Given the description of an element on the screen output the (x, y) to click on. 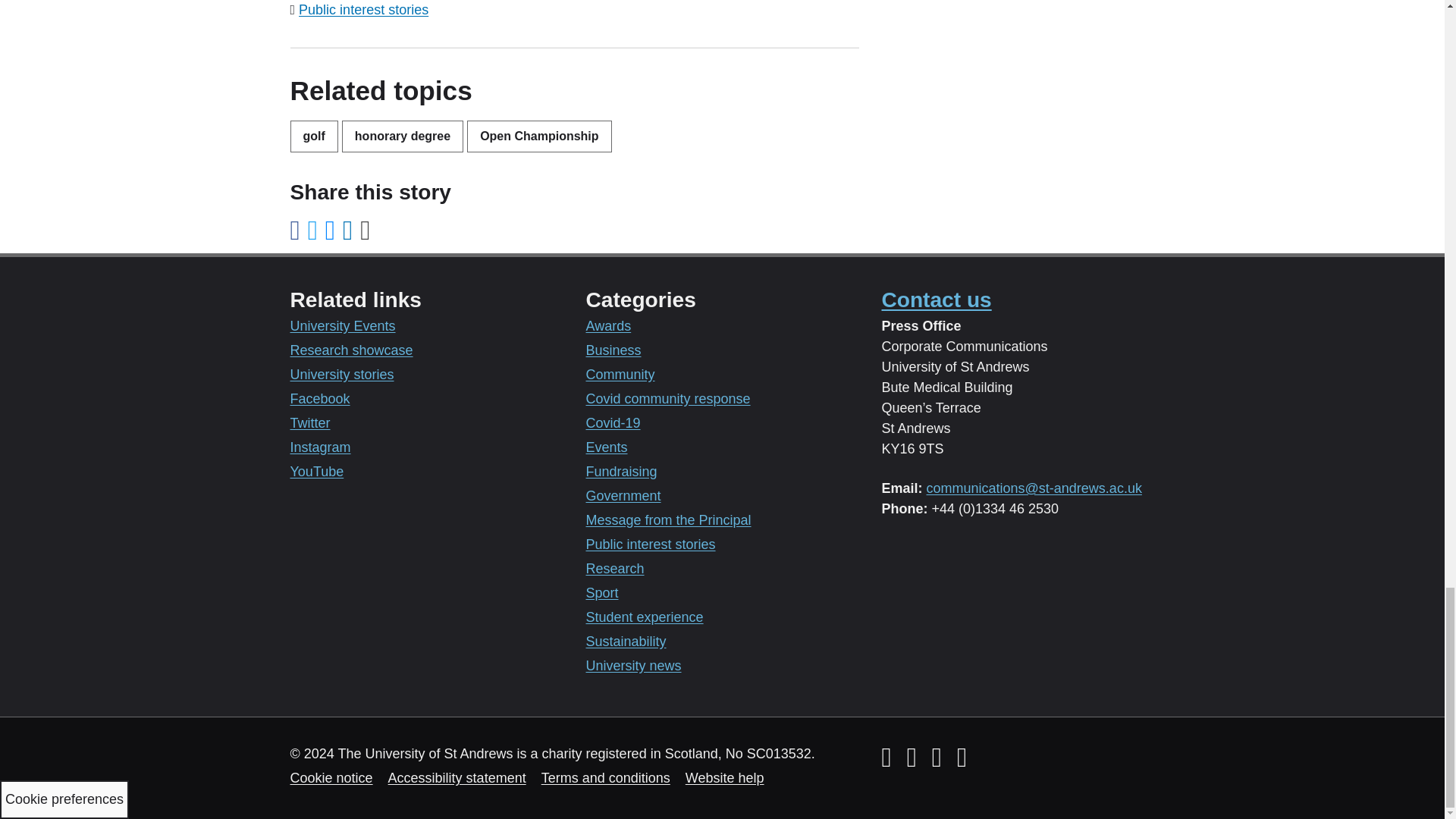
honorary degree (402, 136)
Public interest stories (363, 9)
Open Championship (539, 136)
golf (313, 136)
